Given the description of an element on the screen output the (x, y) to click on. 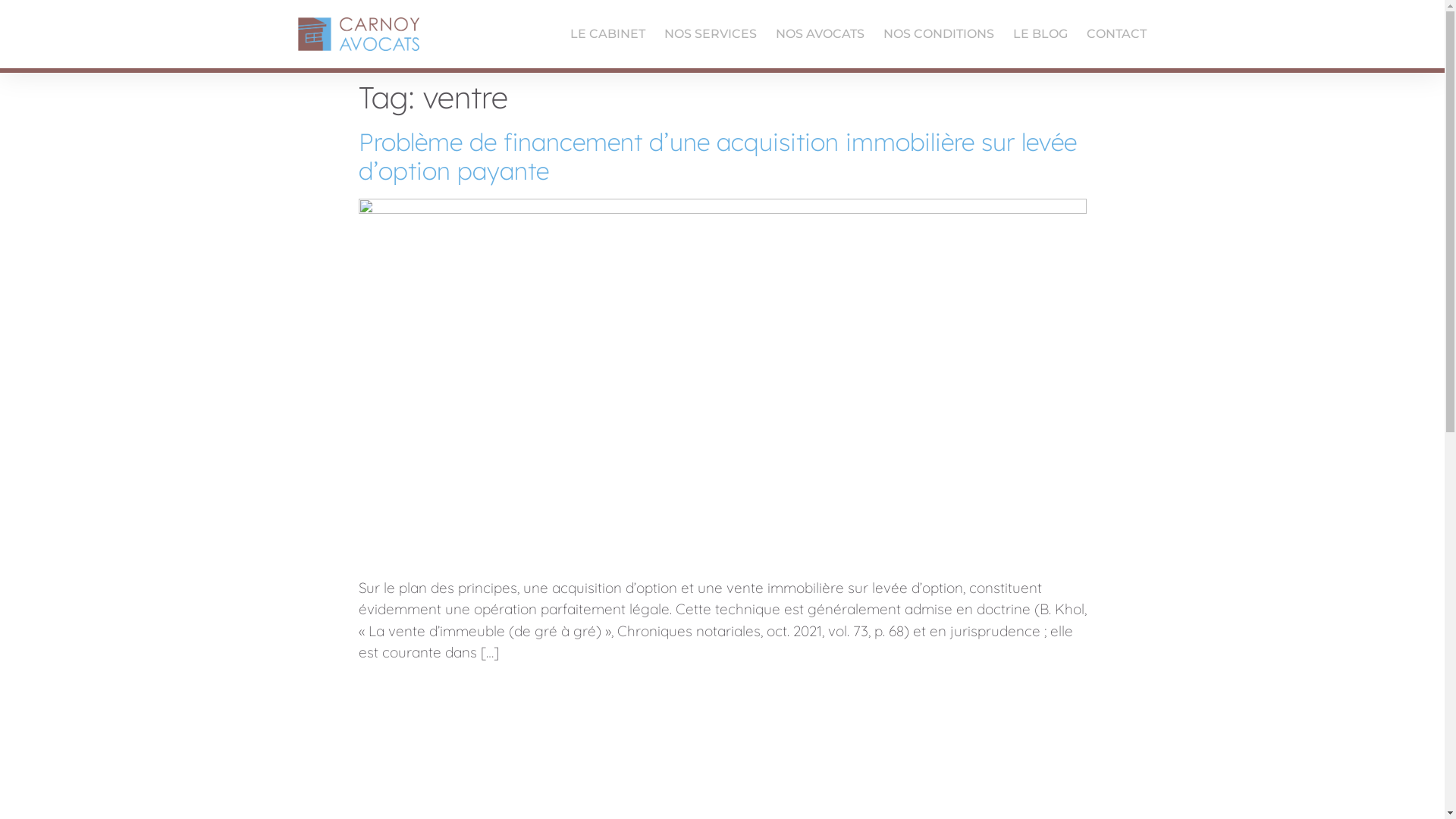
NOS CONDITIONS Element type: text (938, 34)
CONTACT Element type: text (1116, 34)
NOS AVOCATS Element type: text (820, 34)
LE CABINET Element type: text (607, 34)
LE BLOG Element type: text (1040, 34)
NOS SERVICES Element type: text (710, 34)
